Given the description of an element on the screen output the (x, y) to click on. 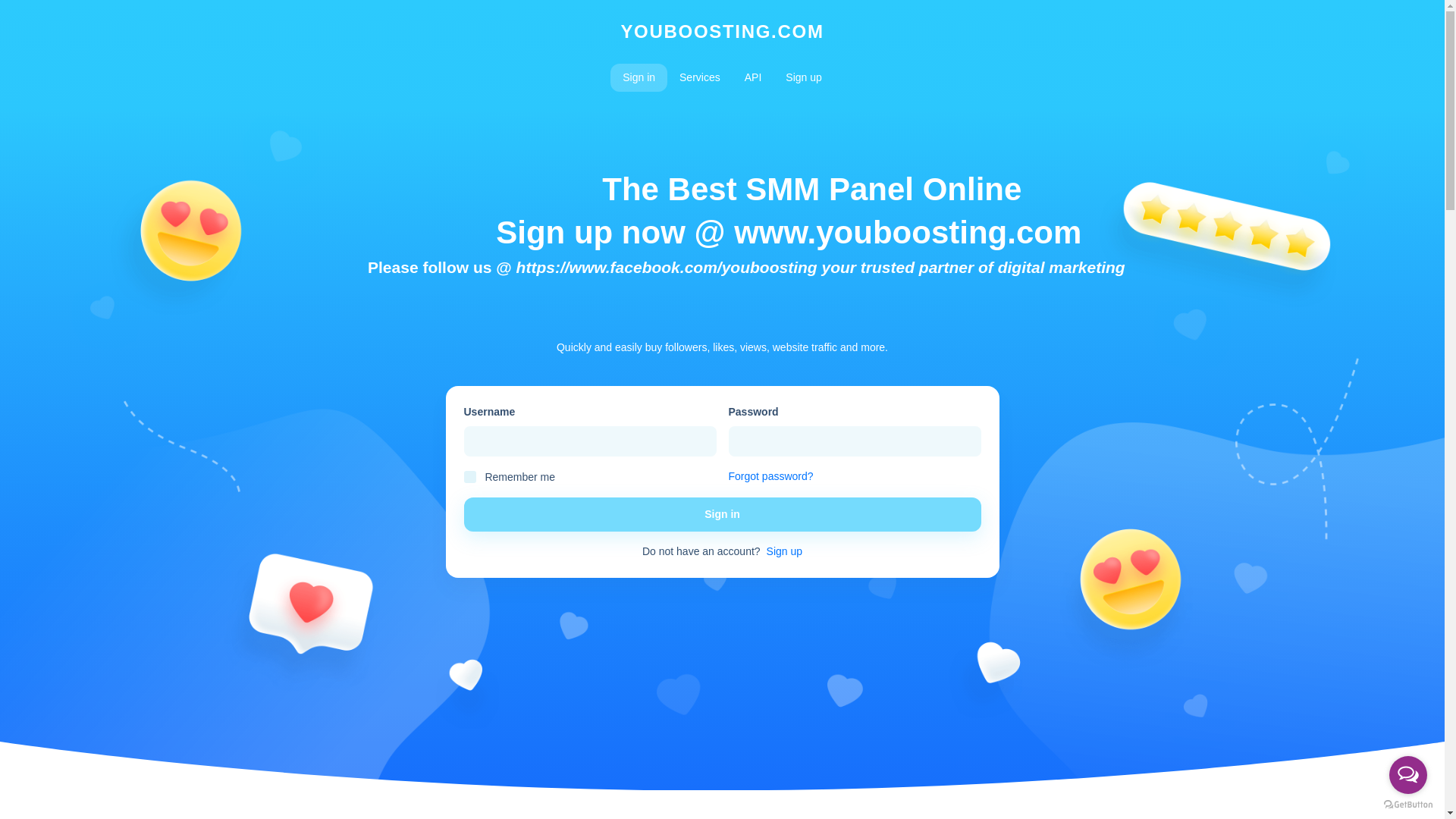
Forgot password? (770, 476)
Sign in (722, 514)
Sign in (638, 77)
Sign up (784, 551)
Sign up (802, 77)
Services (699, 77)
API (753, 77)
